Given the description of an element on the screen output the (x, y) to click on. 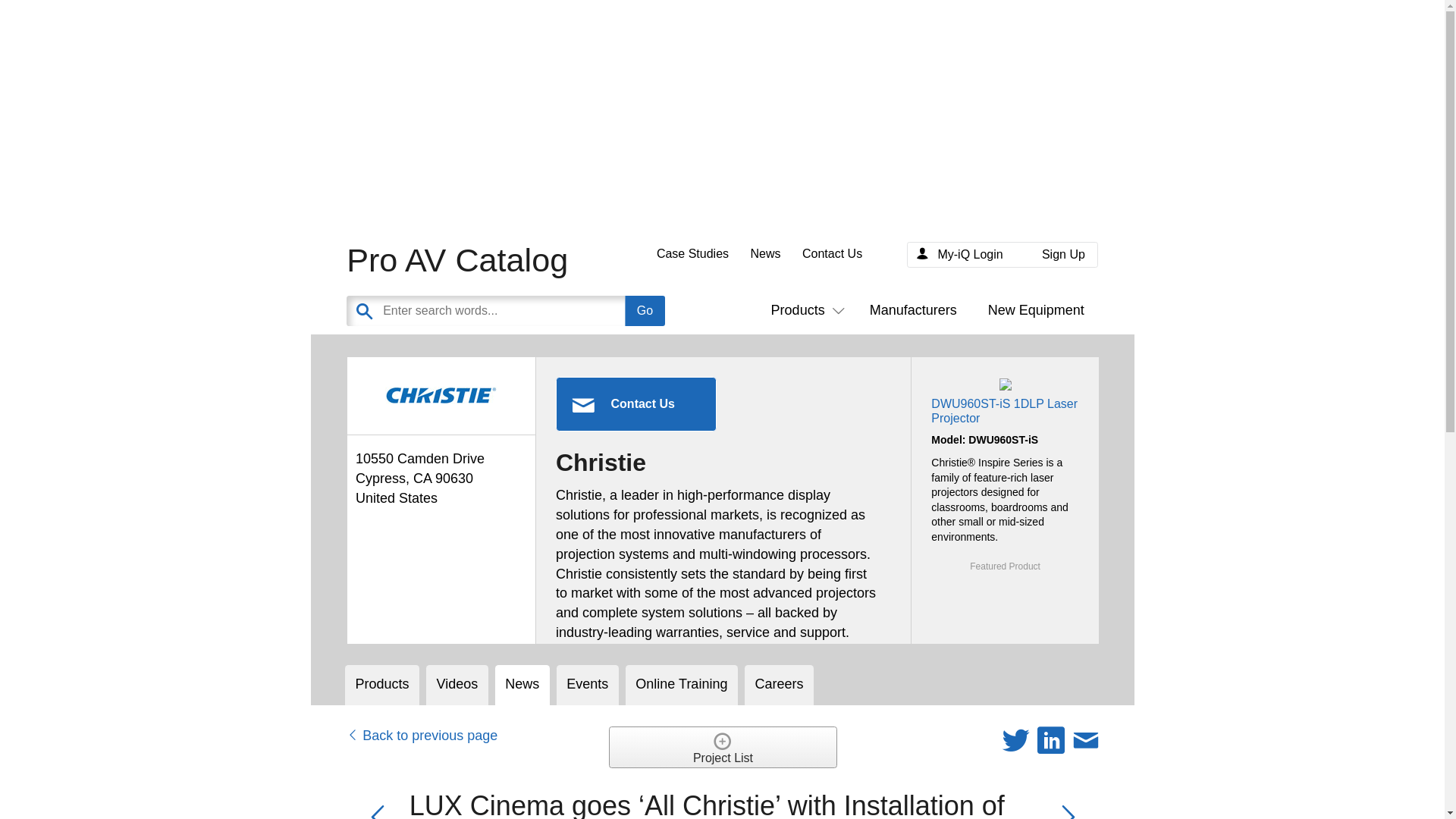
Go (644, 310)
Go (644, 310)
Enter search words... (541, 310)
